Given the description of an element on the screen output the (x, y) to click on. 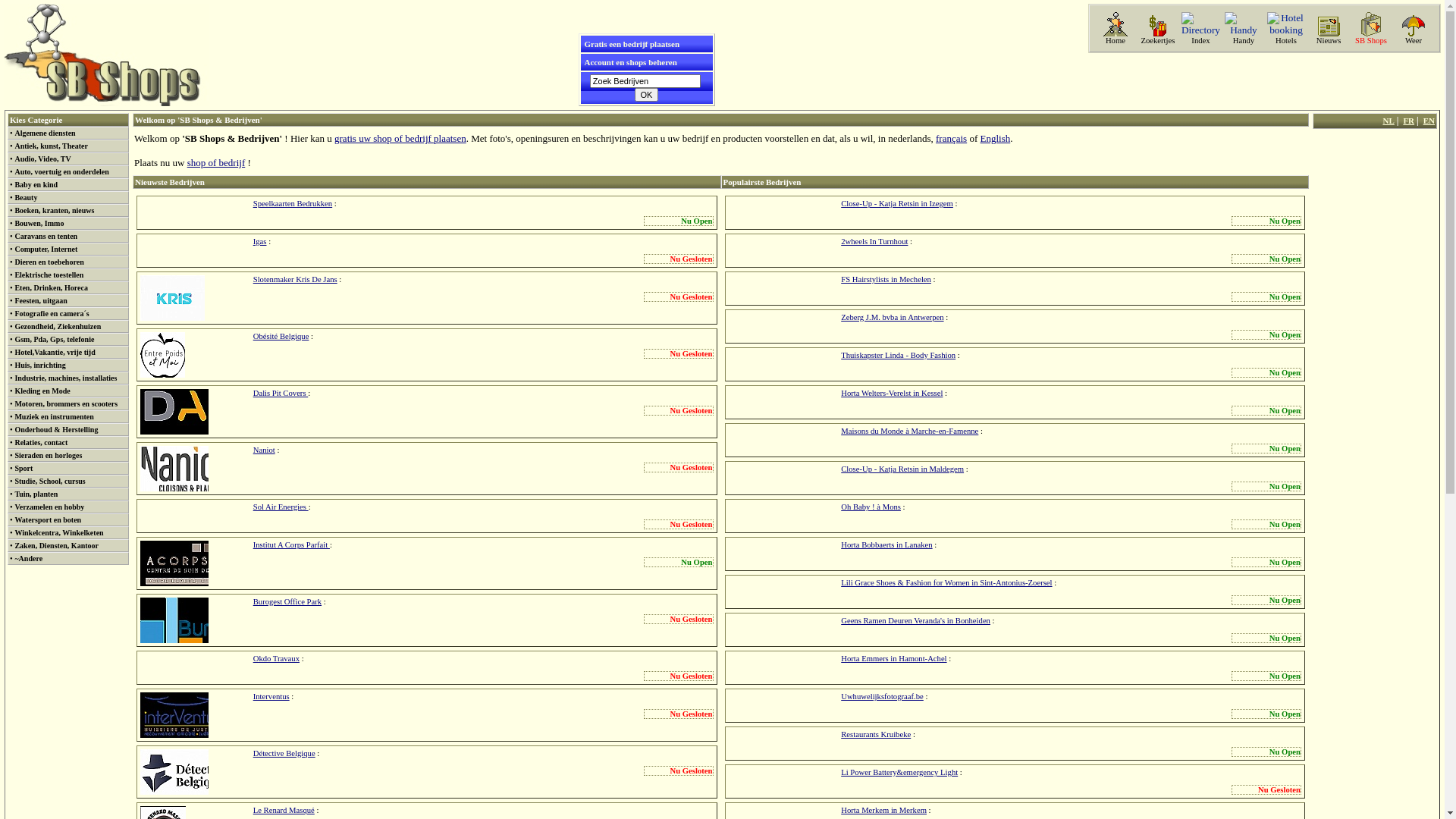
Hotels Element type: text (1285, 40)
Close-Up - Katja Retsin in Maldegem Element type: text (901, 468)
Handy Element type: text (1243, 40)
Tuin, planten Element type: text (35, 493)
Winkelcentra, Winkelketen Element type: text (58, 532)
Boeken, kranten, nieuws Element type: text (54, 210)
Horta Bobbaerts in Lanaken Element type: text (885, 544)
Zeberg J.M. bvba in Antwerpen Element type: text (891, 317)
Industrie, machines, installaties Element type: text (65, 377)
Nieuws Element type: text (1328, 40)
Speelkaarten Bedrukken Element type: text (292, 203)
Index Element type: text (1200, 40)
OK Element type: text (646, 94)
gratis uw shop of bedrijf plaatsen Element type: text (400, 138)
Antiek, kunst, Theater Element type: text (50, 145)
Bouwen, Immo Element type: text (38, 223)
Geens Ramen Deuren Veranda's in Bonheiden Element type: text (915, 620)
Gezondheid, Ziekenhuizen Element type: text (57, 326)
Beauty Element type: text (25, 197)
Okdo Travaux Element type: text (276, 658)
Hotel,Vakantie, vrije tijd Element type: text (54, 352)
2wheels In Turnhout Element type: text (873, 241)
Gratis een bedrijf plaatsen Element type: text (631, 43)
Zaken, Diensten, Kantoor Element type: text (56, 545)
Baby en kind Element type: text (35, 184)
~Andere Element type: text (28, 558)
Restaurants Kruibeke Element type: text (875, 734)
Li Power Battery&emergency Light Element type: text (898, 772)
Advertisement Element type: hover (1262, 80)
Sport Element type: text (23, 468)
Home Element type: text (1115, 40)
Uwhuwelijksfotograaf.be Element type: text (881, 696)
Eten, Drinken, Horeca Element type: text (50, 287)
Dieren en toebehoren Element type: text (48, 261)
Auto, voertuig en onderdelen Element type: text (61, 171)
Naniot Element type: hover (174, 468)
Burogest Office Park Element type: hover (174, 620)
Slotenmaker Kris De Jans Element type: text (295, 279)
Sol Air Energies Element type: text (280, 506)
shop of bedrijf Element type: text (216, 162)
Relaties, contact Element type: text (40, 442)
Audio, Video, TV Element type: text (42, 158)
Onderhoud & Herstelling Element type: text (55, 429)
Burogest Office Park Element type: text (287, 601)
Verzamelen en hobby Element type: text (49, 506)
Algemene diensten Element type: text (44, 132)
Institut A Corps Parfait Element type: text (291, 544)
Muziek en instrumenten Element type: text (53, 416)
EN Element type: text (1428, 120)
Studie, School, cursus Element type: text (49, 480)
Advertisement Element type: hover (1374, 357)
Feesten, uitgaan Element type: text (40, 300)
Account en shops beheren Element type: text (629, 61)
Zoekertjes Element type: text (1157, 40)
Institut A Corps Parfait  Element type: hover (174, 563)
Horta Welters-Verelst in Kessel Element type: text (891, 393)
Horta Merkem in Merkem Element type: text (883, 810)
Watersport en boten Element type: text (47, 519)
Huis, inrichting Element type: text (39, 364)
Naniot Element type: text (264, 449)
Elektrische toestellen Element type: text (48, 274)
Weer Element type: text (1413, 40)
Interventus Element type: hover (174, 714)
SB Shops Element type: text (1370, 40)
Slotenmaker Kris De Jans Element type: hover (172, 297)
Caravans en tenten Element type: text (45, 236)
Igas Element type: text (259, 241)
FR Element type: text (1408, 120)
Motoren, brommers en scooters Element type: text (65, 403)
Sieraden en horloges Element type: text (47, 455)
Gsm, Pda, Gps, telefonie Element type: text (54, 339)
Close-Up - Katja Retsin in Izegem Element type: text (896, 203)
Interventus Element type: text (271, 696)
Computer, Internet Element type: text (45, 248)
Horta Emmers in Hamont-Achel Element type: text (893, 658)
Dalis Pit Covers  Element type: hover (174, 411)
Thuiskapster Linda - Body Fashion Element type: text (897, 355)
English Element type: text (994, 138)
FS Hairstylists in Mechelen Element type: text (885, 279)
NL Element type: text (1387, 120)
Dalis Pit Covers Element type: text (280, 393)
Kleding en Mode Element type: text (41, 390)
